Given the description of an element on the screen output the (x, y) to click on. 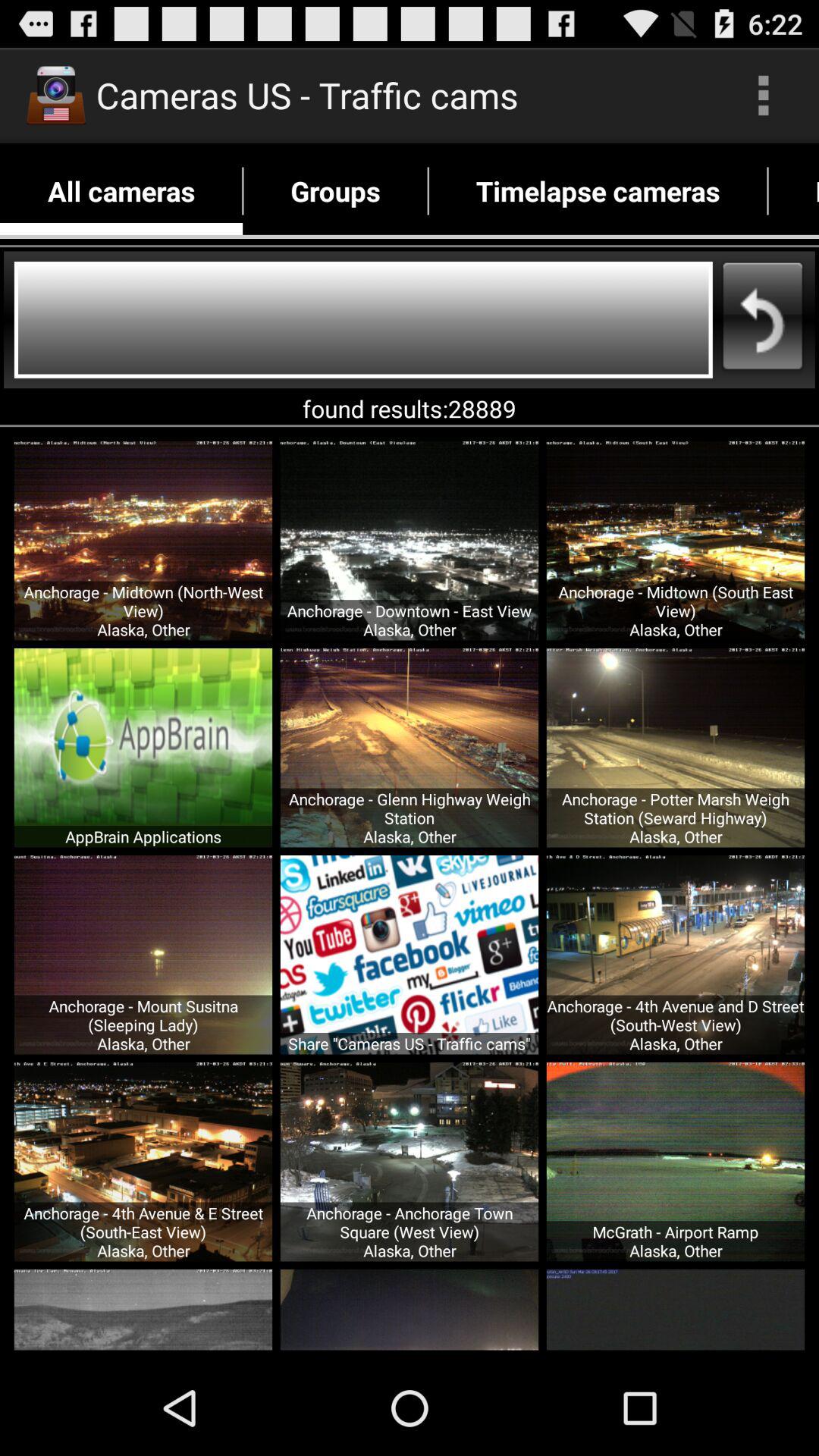
turn off the app next to favorites app (597, 190)
